Given the description of an element on the screen output the (x, y) to click on. 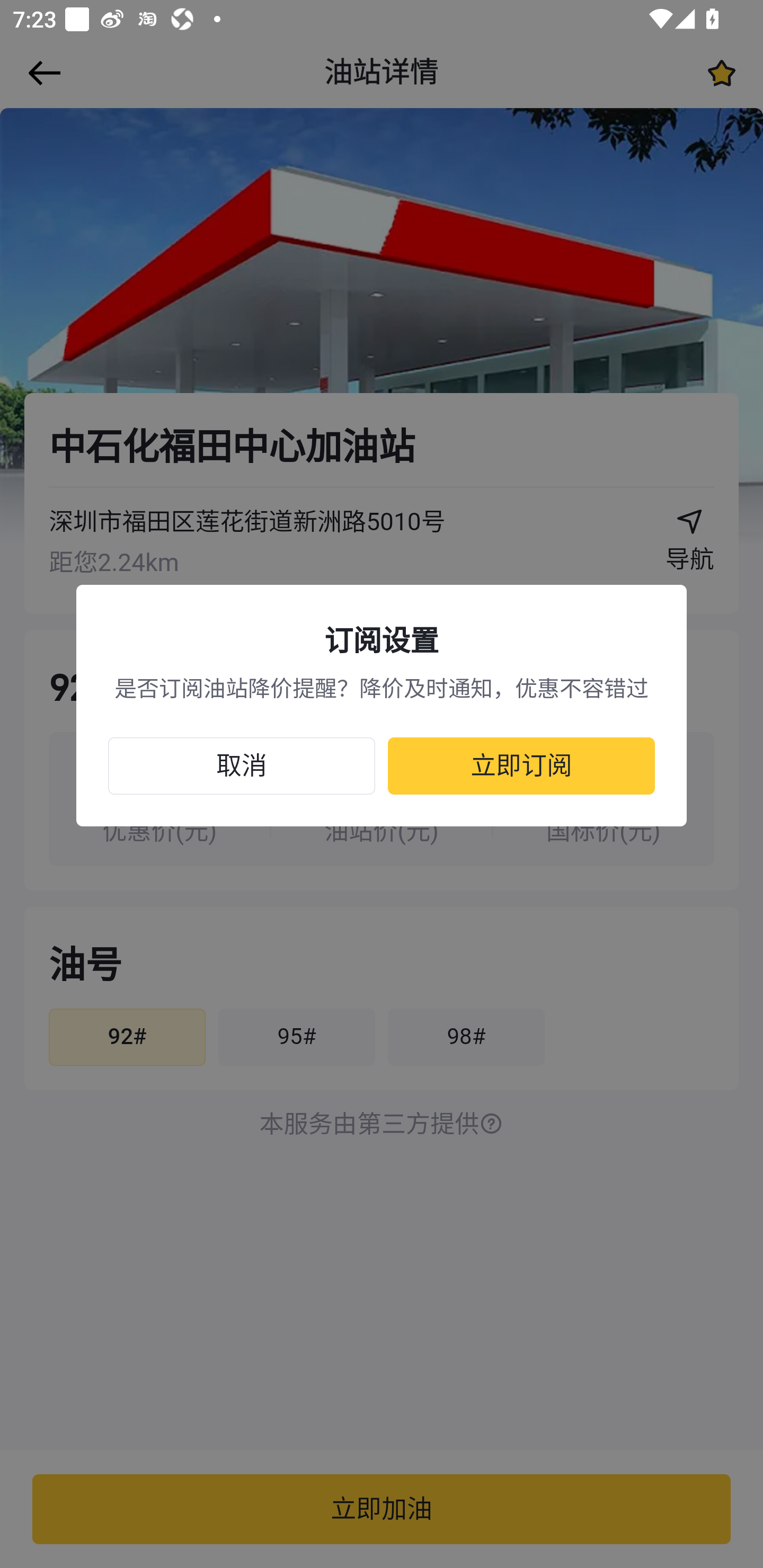
取消 (241, 766)
立即订阅 (520, 766)
